Given the description of an element on the screen output the (x, y) to click on. 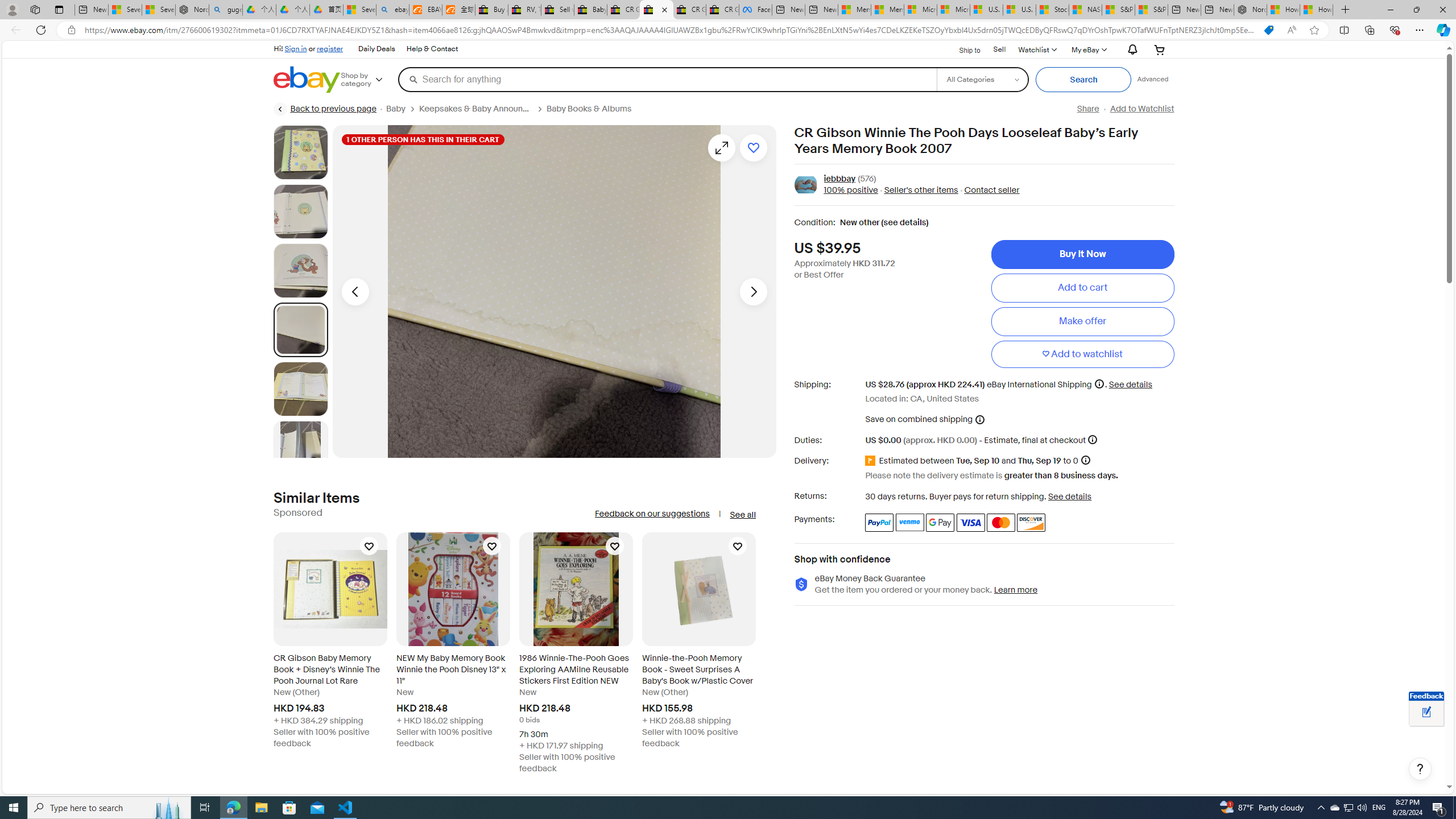
Baby Books & Albums (588, 108)
Baby Books & Albums (593, 108)
Previous image - Item images thumbnails (354, 291)
More information (1092, 439)
Watchlist (1036, 49)
See all (742, 514)
eBay Home (306, 79)
How to Use a Monitor With Your Closed Laptop (1316, 9)
